Given the description of an element on the screen output the (x, y) to click on. 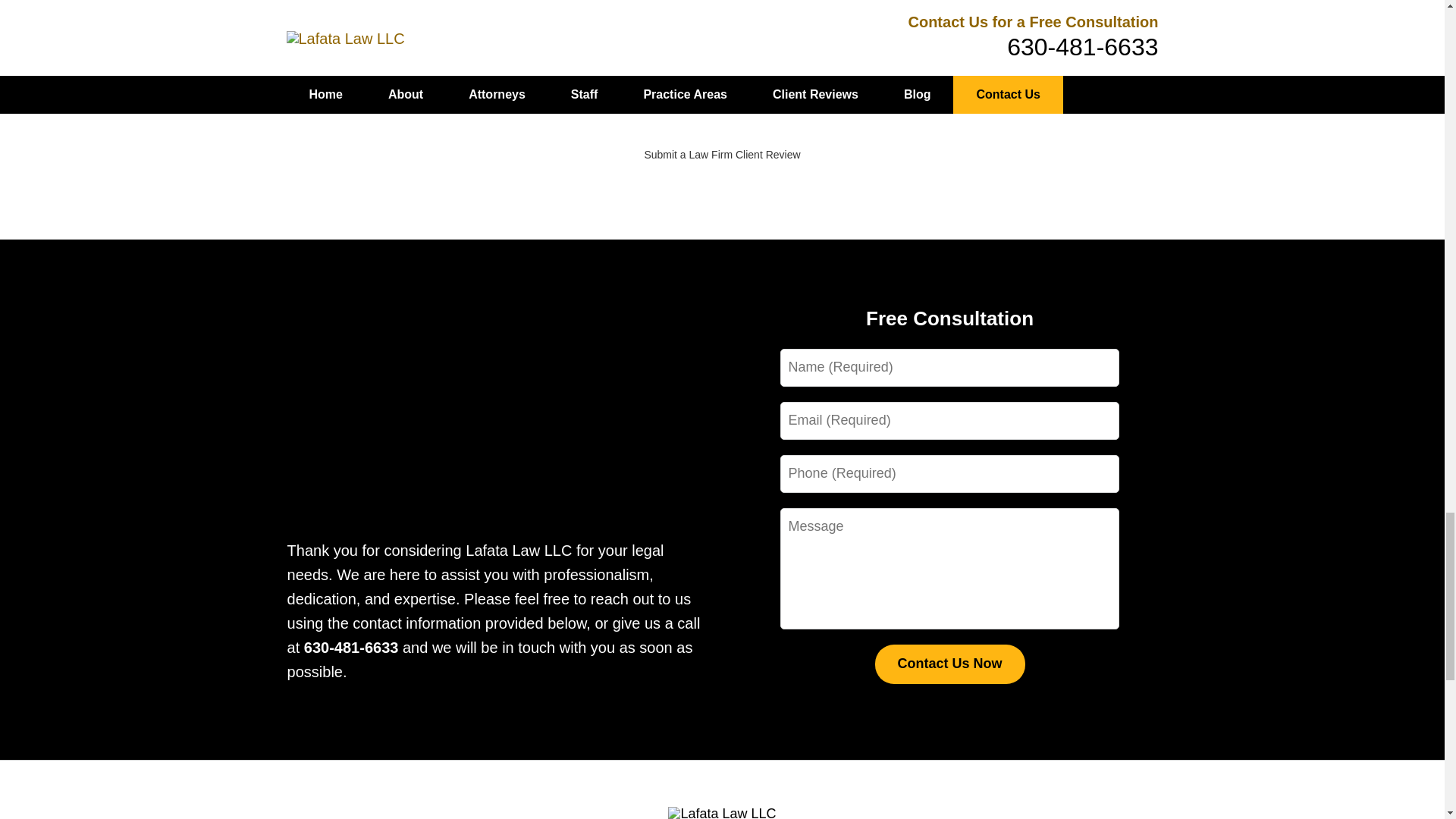
Contact Us Now (950, 663)
View More (722, 87)
Submit a Law Firm Client Review (721, 154)
